Given the description of an element on the screen output the (x, y) to click on. 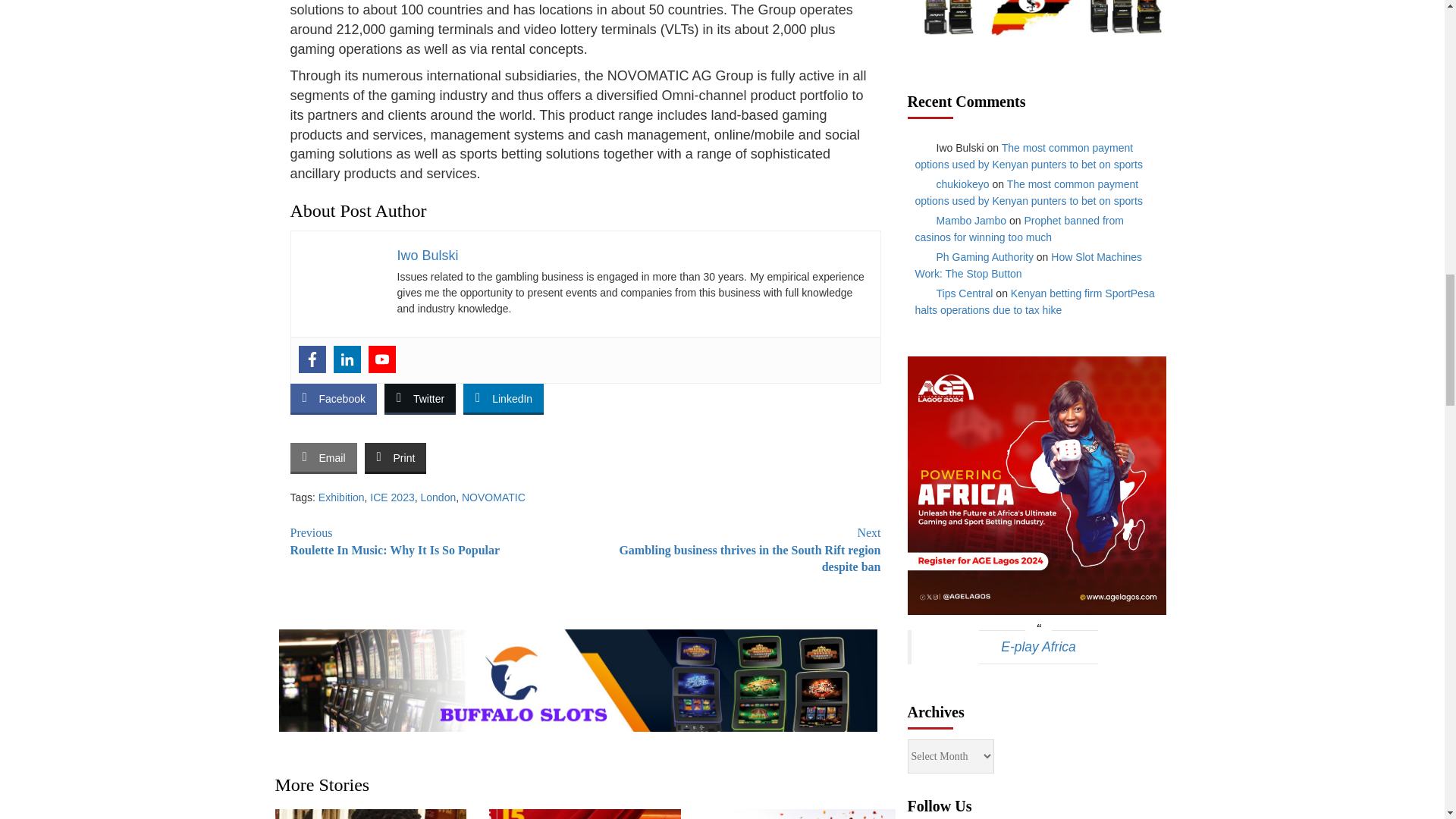
Linkedin (347, 359)
Youtube (382, 359)
Facebook (312, 359)
